Given the description of an element on the screen output the (x, y) to click on. 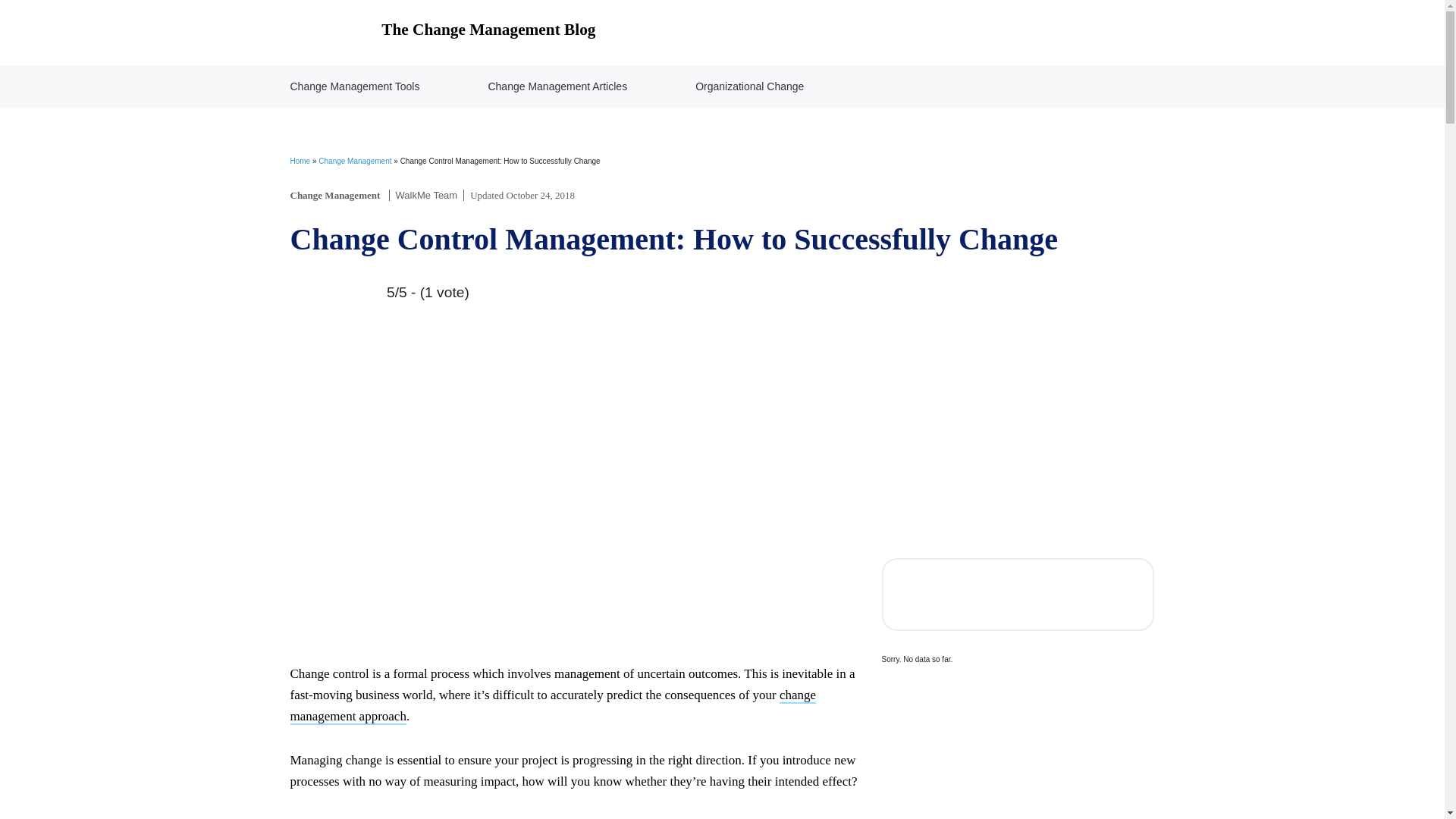
change management approach (552, 705)
Change Management (354, 161)
youtube (1114, 594)
Home (299, 161)
Change Management Articles (556, 86)
instagram (1017, 594)
WalkMe Team (427, 194)
Change Management (334, 194)
facebook (920, 594)
twitter (968, 594)
The Change Management Blog (442, 31)
Change Management Tools (355, 86)
linkedin (1066, 594)
Organizational Change (749, 86)
The Change Management Blog (442, 31)
